Given the description of an element on the screen output the (x, y) to click on. 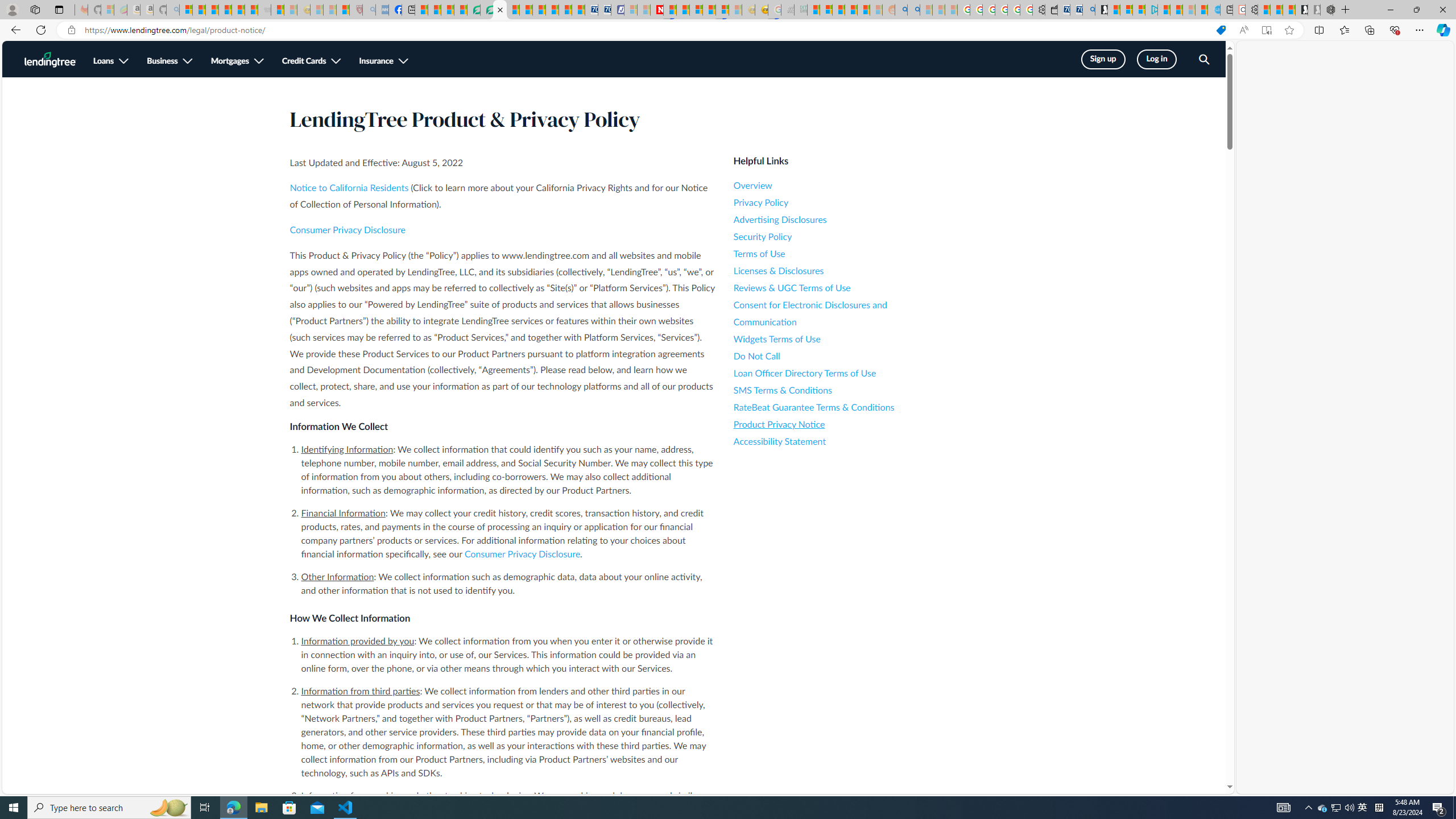
LendingTree Product & Privacy Policy (500, 9)
Notice to California Residents (349, 188)
Widgets Terms of Use (836, 339)
LendingTree Homepage Logo (50, 59)
Consent for Electronic Disclosures and Communication (836, 313)
Credit Cards, see more (311, 61)
Insurance, see more (383, 61)
